Given the description of an element on the screen output the (x, y) to click on. 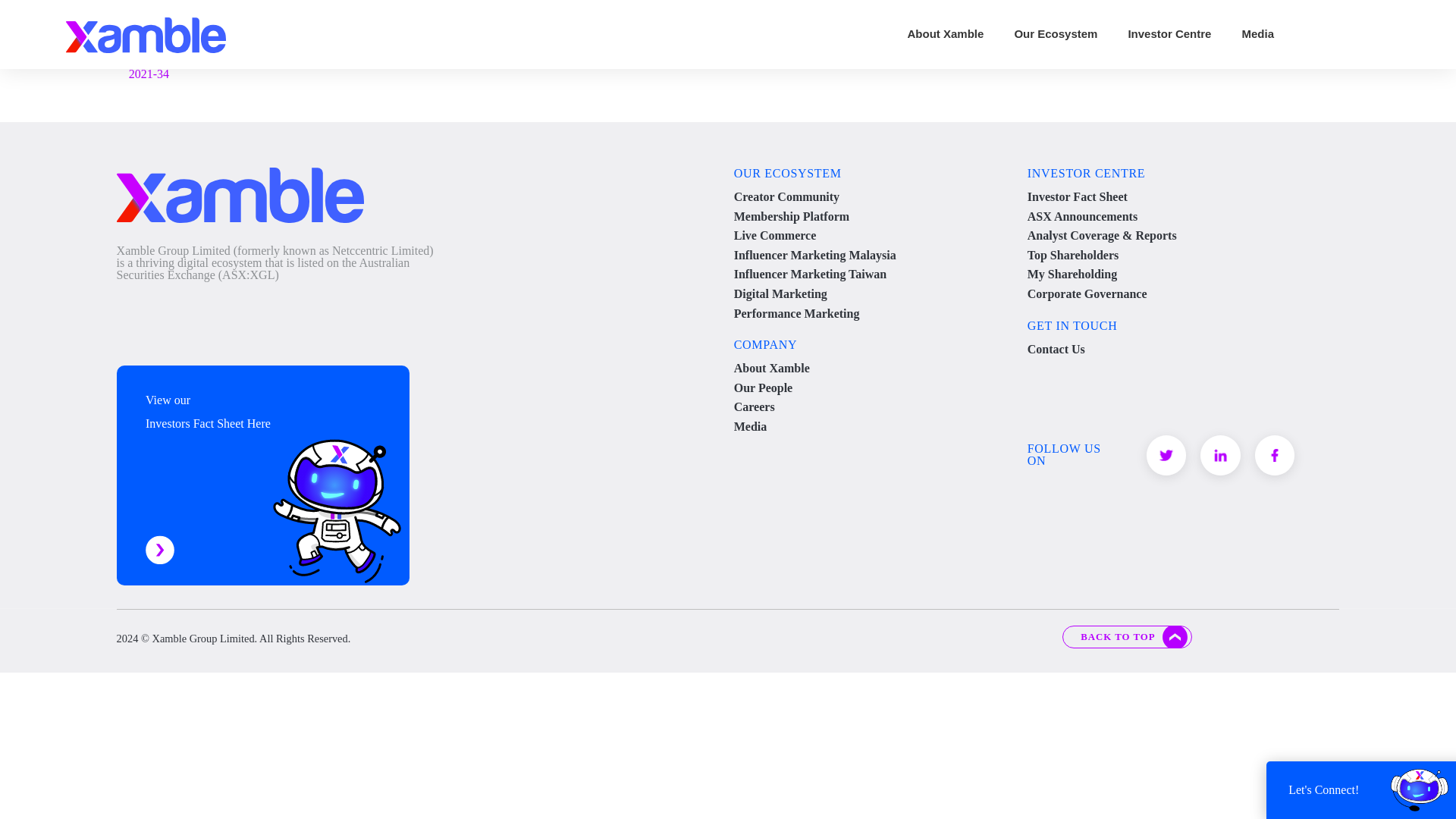
Xamble (145, 33)
